Given the description of an element on the screen output the (x, y) to click on. 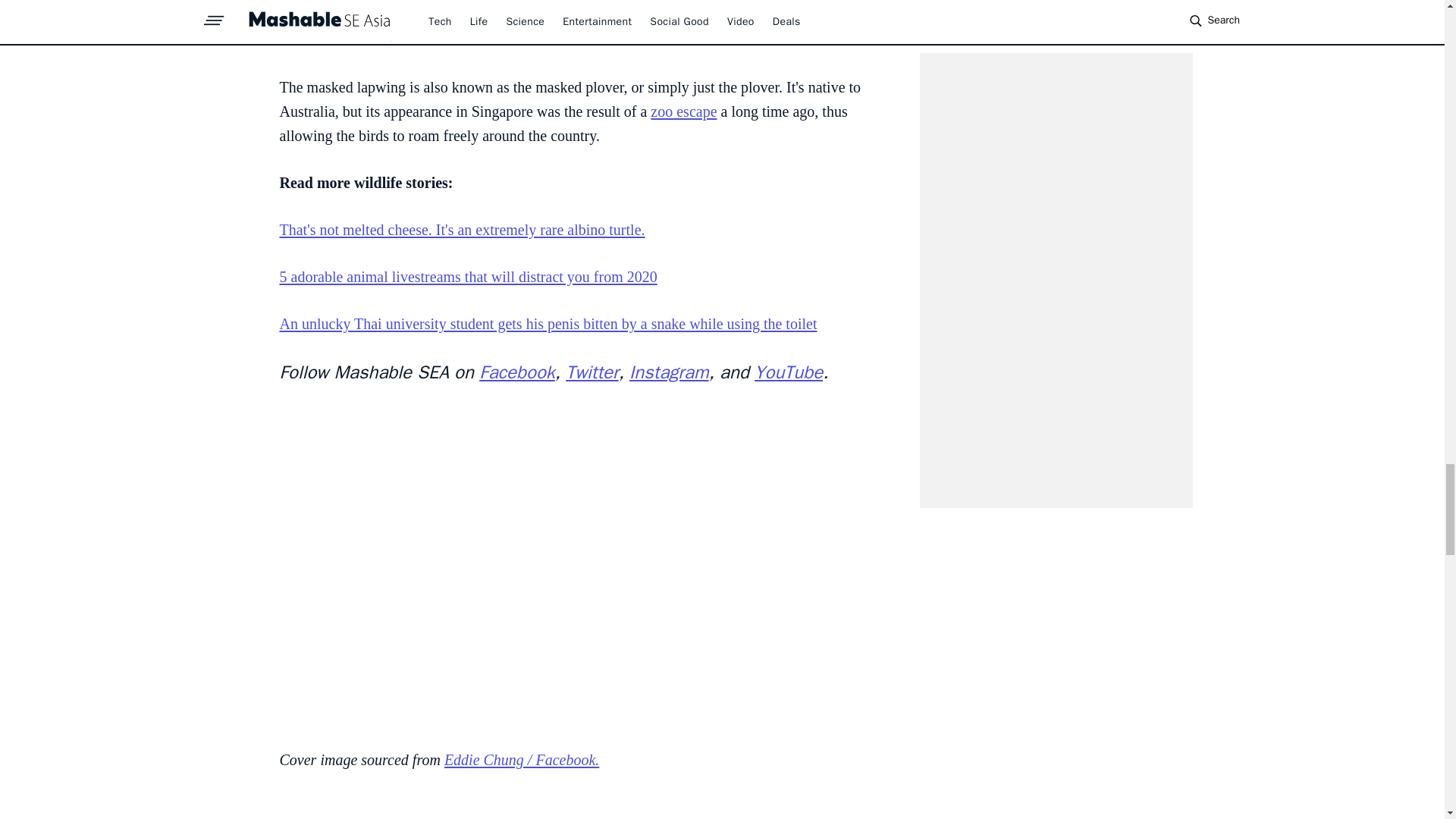
zoo escape (683, 111)
eBird (330, 41)
Facebook (516, 372)
Instagram (668, 372)
Twitter (592, 372)
YouTube (788, 372)
